Given the description of an element on the screen output the (x, y) to click on. 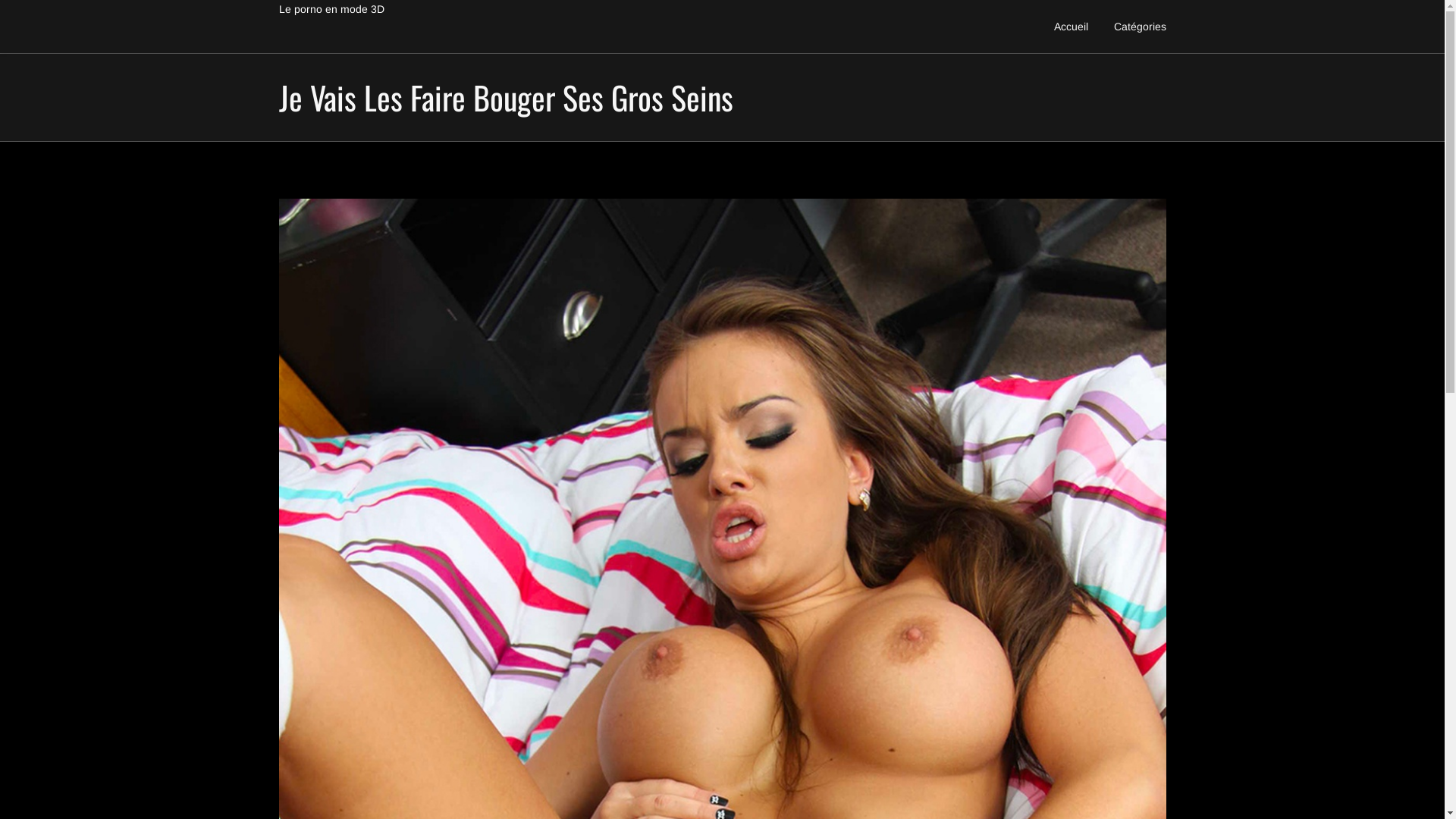
Accueil Element type: text (1069, 26)
Le porno en mode 3D Element type: text (331, 9)
